Given the description of an element on the screen output the (x, y) to click on. 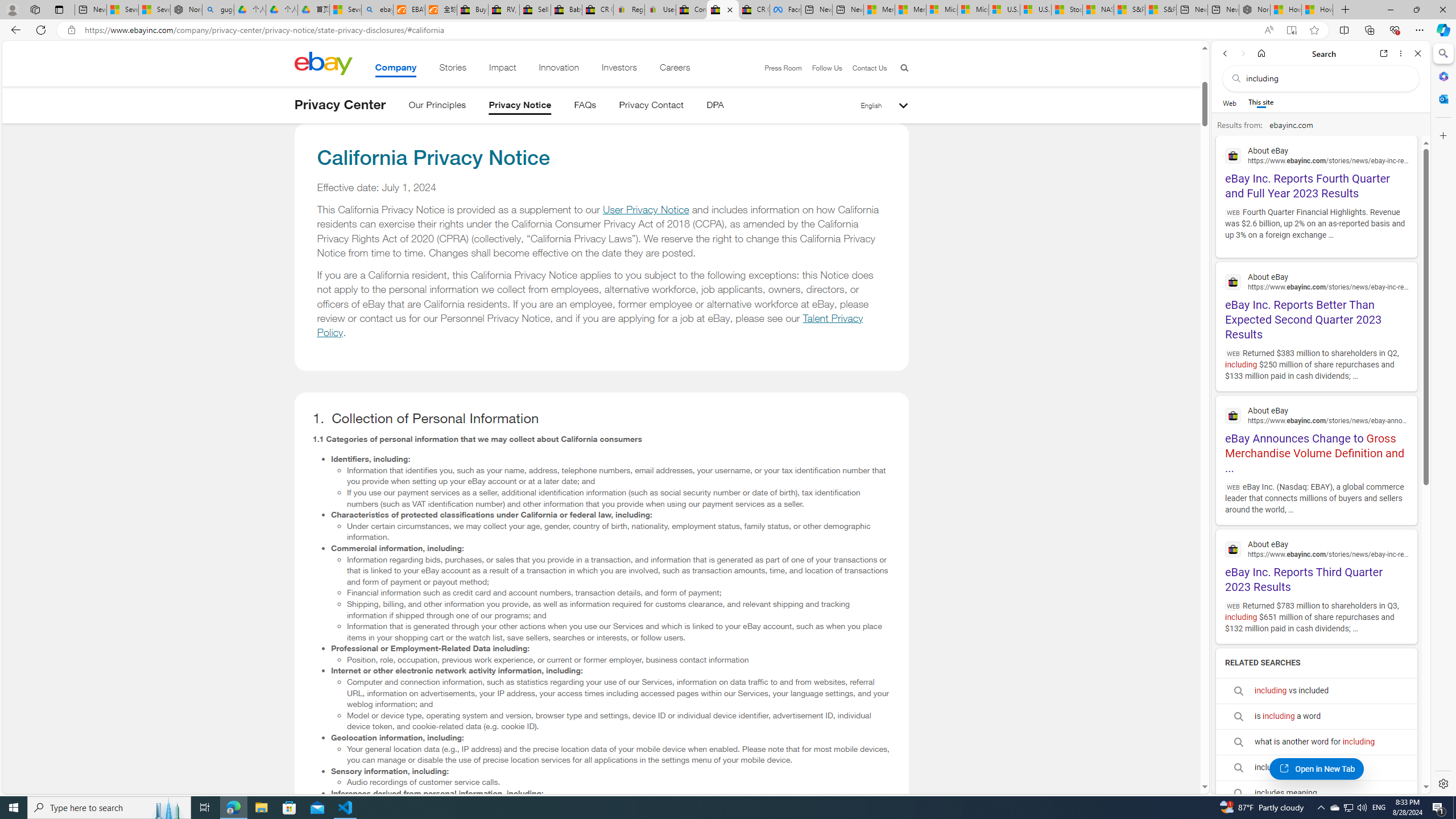
Web scope (1230, 102)
FAQs (584, 107)
includes synonym (1315, 767)
includes meaning (1315, 792)
